Given the description of an element on the screen output the (x, y) to click on. 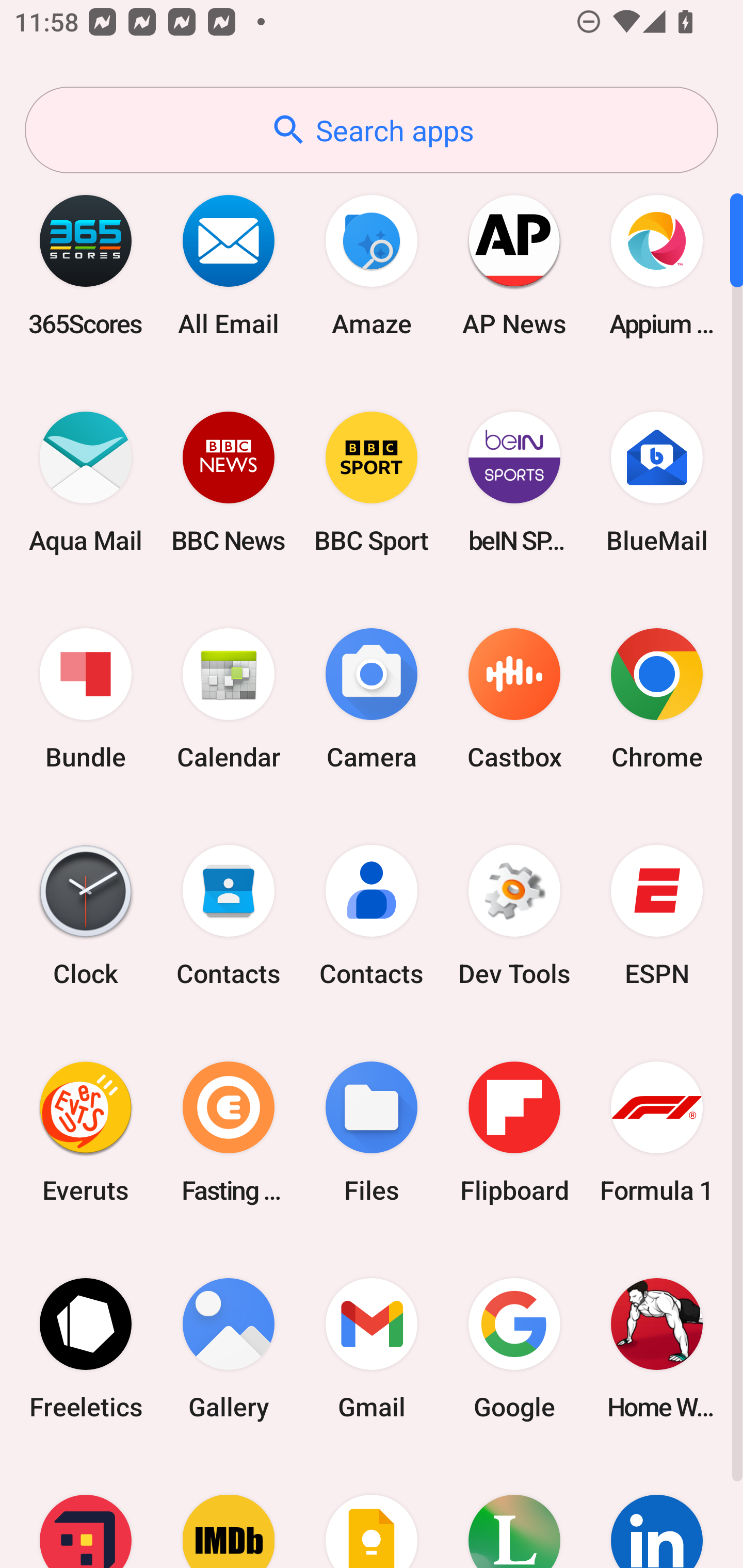
  Search apps (371, 130)
365Scores (85, 264)
All Email (228, 264)
Amaze (371, 264)
AP News (514, 264)
Appium Settings (656, 264)
Aqua Mail (85, 482)
BBC News (228, 482)
BBC Sport (371, 482)
beIN SPORTS (514, 482)
BlueMail (656, 482)
Bundle (85, 699)
Calendar (228, 699)
Camera (371, 699)
Castbox (514, 699)
Chrome (656, 699)
Clock (85, 915)
Contacts (228, 915)
Contacts (371, 915)
Dev Tools (514, 915)
ESPN (656, 915)
Everuts (85, 1131)
Fasting Coach (228, 1131)
Files (371, 1131)
Flipboard (514, 1131)
Formula 1 (656, 1131)
Freeletics (85, 1348)
Gallery (228, 1348)
Gmail (371, 1348)
Google (514, 1348)
Home Workout (656, 1348)
Hotels.com (85, 1512)
IMDb (228, 1512)
Keep Notes (371, 1512)
Lifesum (514, 1512)
LinkedIn (656, 1512)
